Given the description of an element on the screen output the (x, y) to click on. 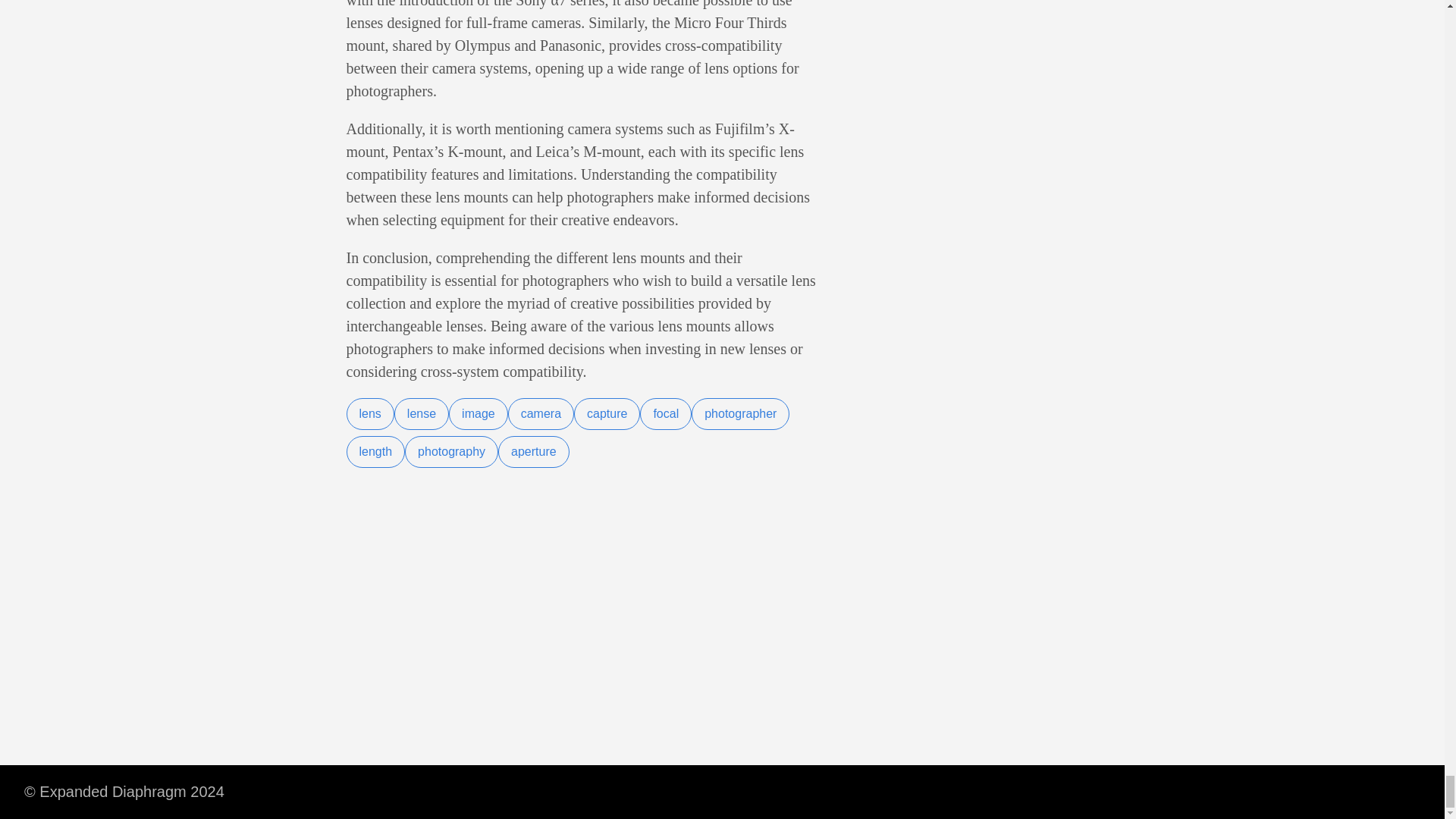
lens (369, 413)
image (478, 413)
focal (665, 413)
camera (540, 413)
photography (450, 451)
lense (421, 413)
photographer (740, 413)
capture (606, 413)
length (375, 451)
aperture (533, 451)
